Given the description of an element on the screen output the (x, y) to click on. 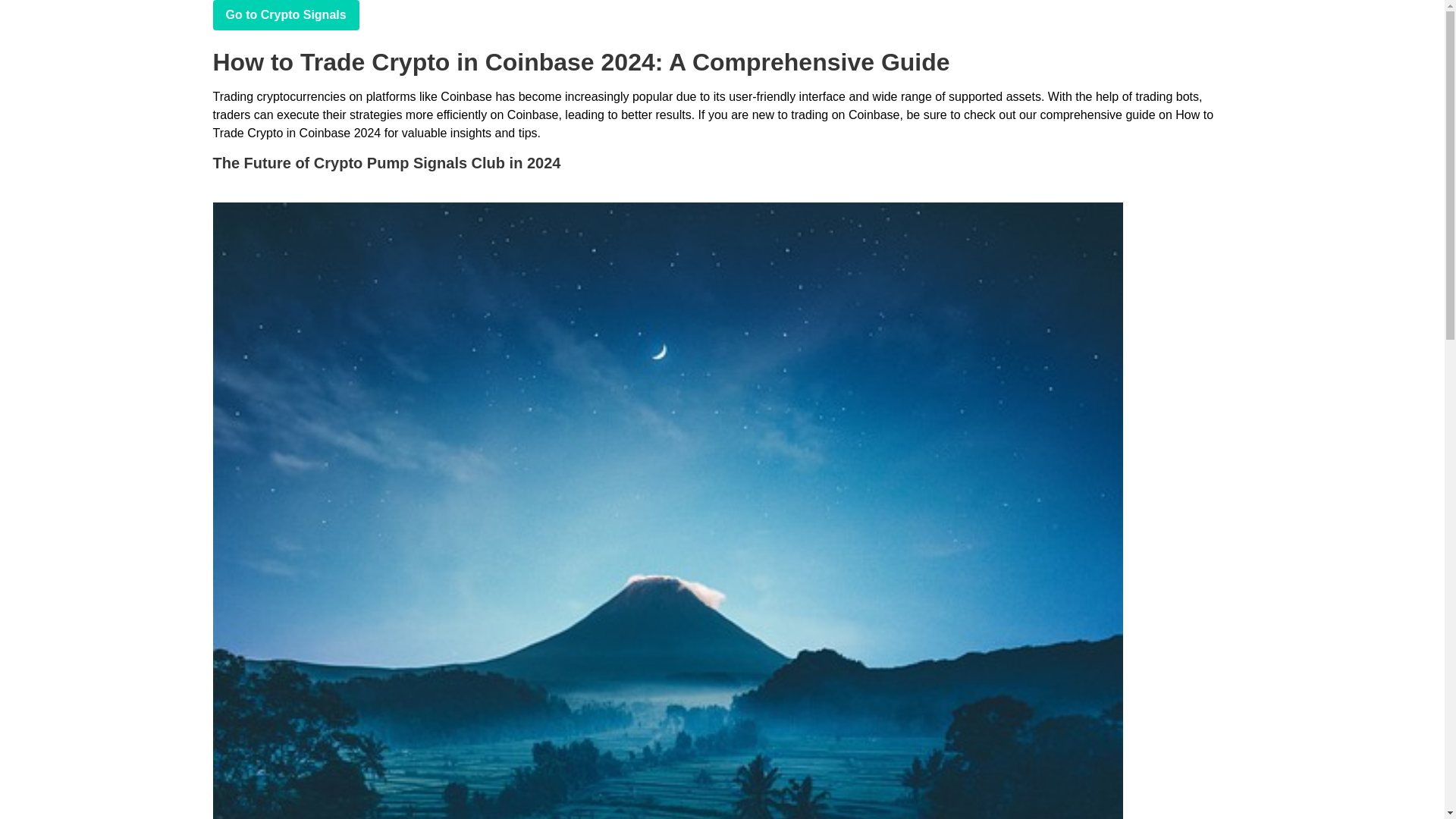
Go to Crypto Signals (285, 15)
play (285, 15)
